Given the description of an element on the screen output the (x, y) to click on. 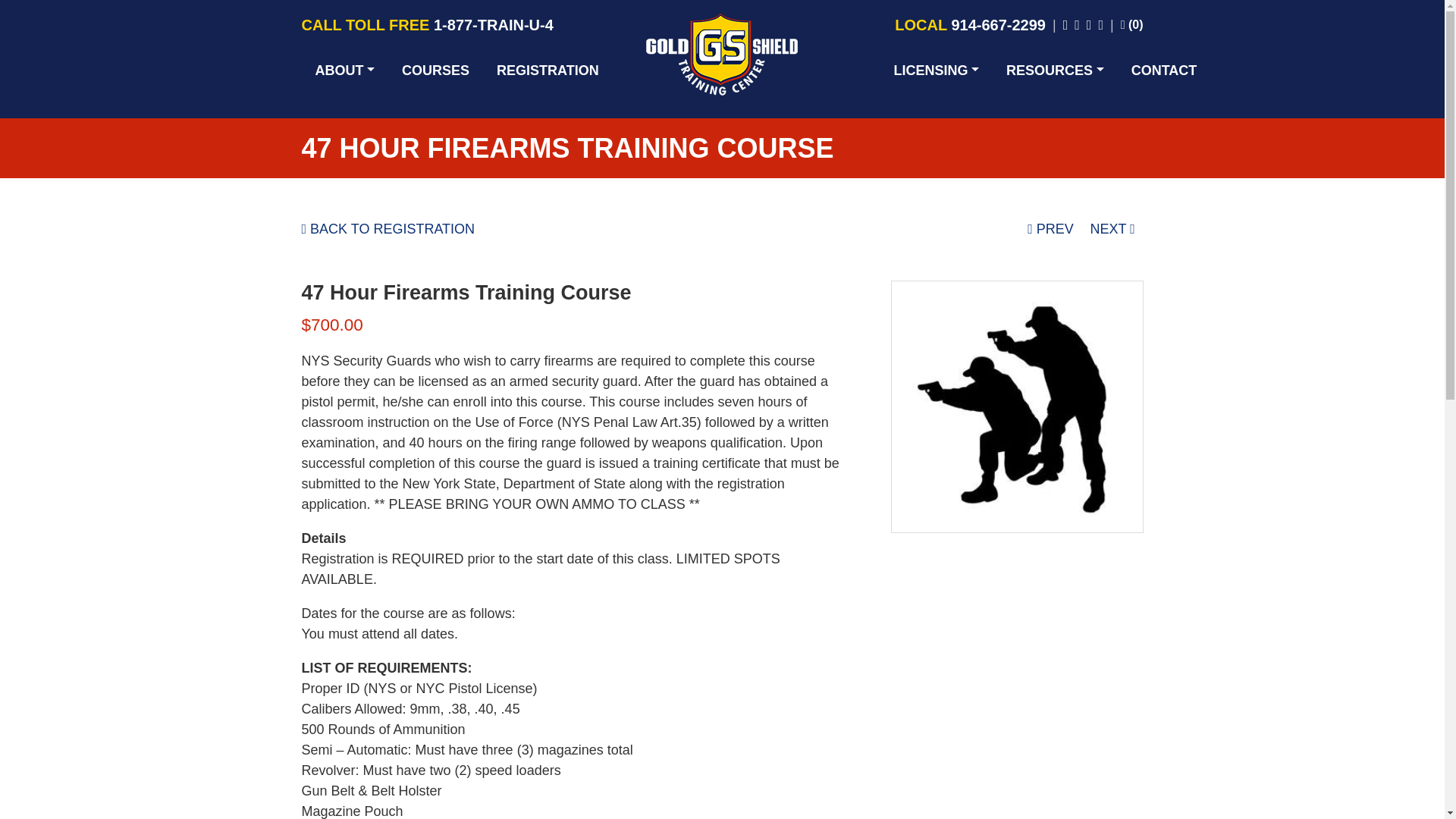
LICENSING (935, 69)
RESOURCES (1055, 69)
CONTACT (1164, 69)
REGISTRATION (547, 69)
BACK TO REGISTRATION (388, 229)
ABOUT (344, 69)
1-877-TRAIN-U-4 (493, 24)
COURSES (435, 69)
914-667-2299 (997, 24)
